Given the description of an element on the screen output the (x, y) to click on. 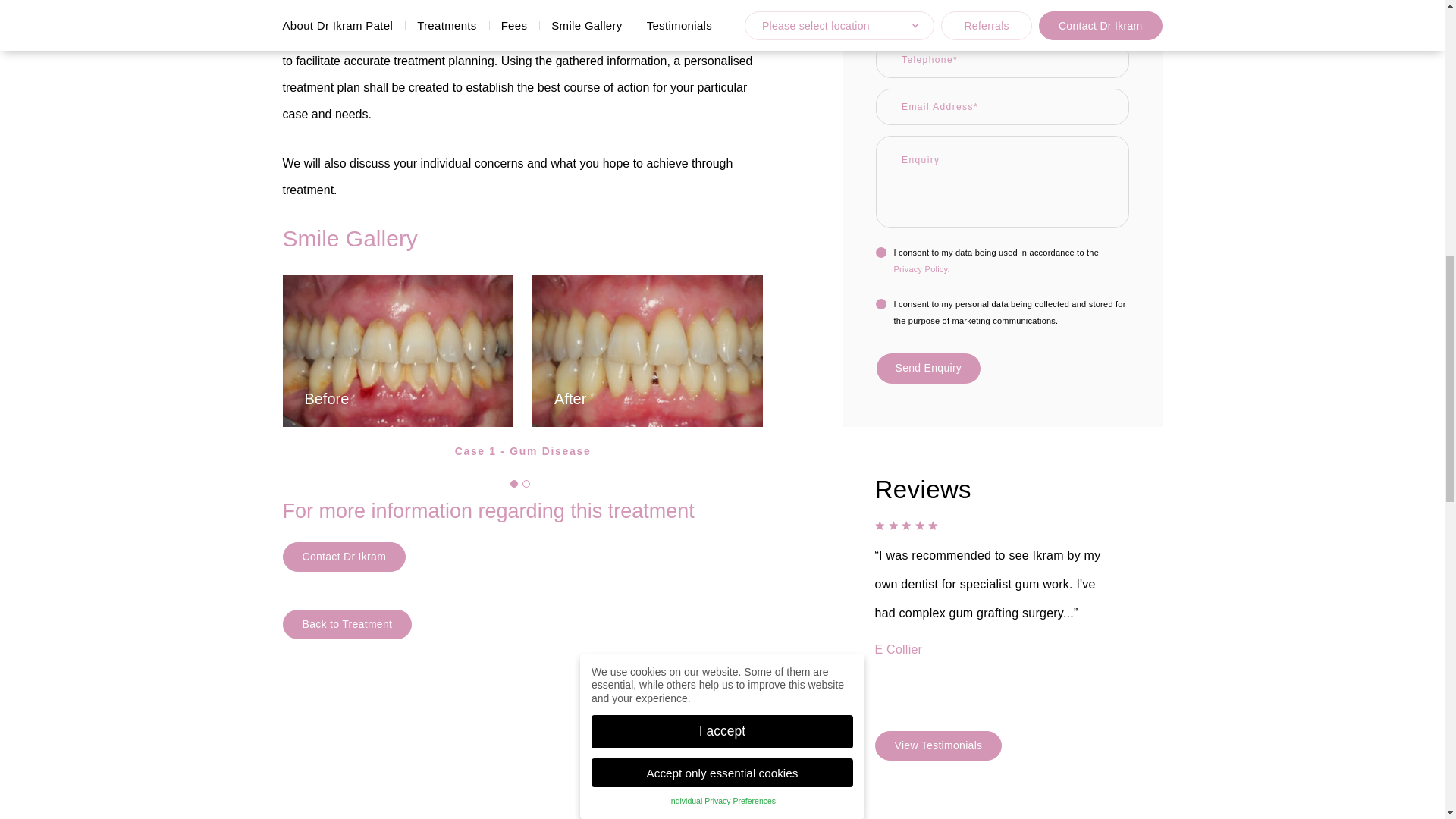
Send Enquiry (928, 368)
Privacy Policy. (921, 268)
Back to Treatment (347, 624)
I consent (881, 252)
Before (397, 349)
Contact Dr Ikram (344, 556)
After (647, 349)
2 (525, 483)
View Testimonials (939, 745)
I consent (881, 303)
1 (514, 483)
Send Enquiry (928, 368)
